Given the description of an element on the screen output the (x, y) to click on. 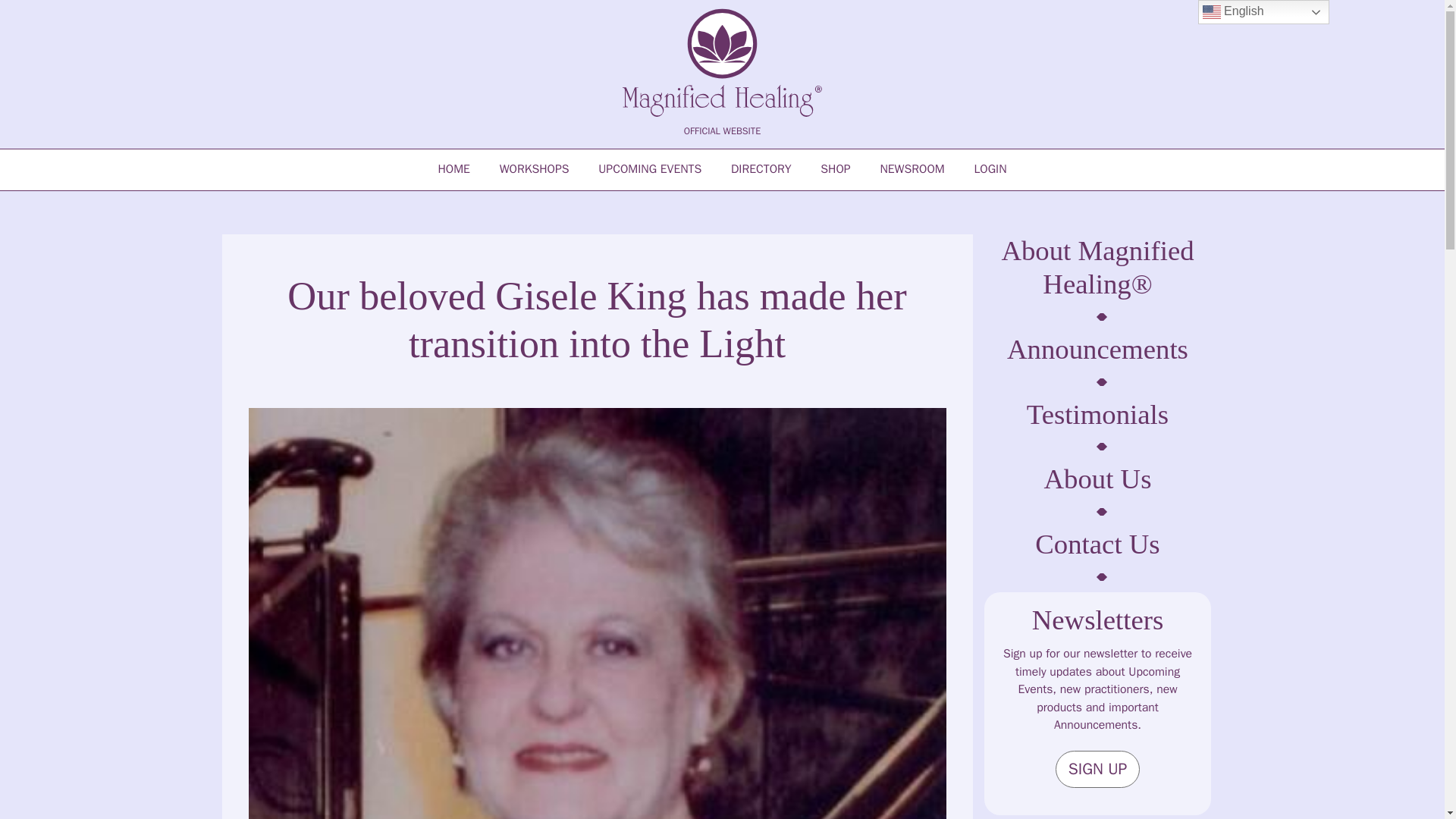
LOGIN (989, 169)
UPCOMING EVENTS (649, 169)
DIRECTORY (761, 169)
WORKSHOPS (534, 169)
Announcements (1097, 348)
SIGN UP (1097, 769)
Contact Us (1096, 543)
SHOP (835, 169)
NEWSROOM (911, 169)
HOME (453, 169)
About Us (1097, 478)
Testimonials (1097, 413)
